Given the description of an element on the screen output the (x, y) to click on. 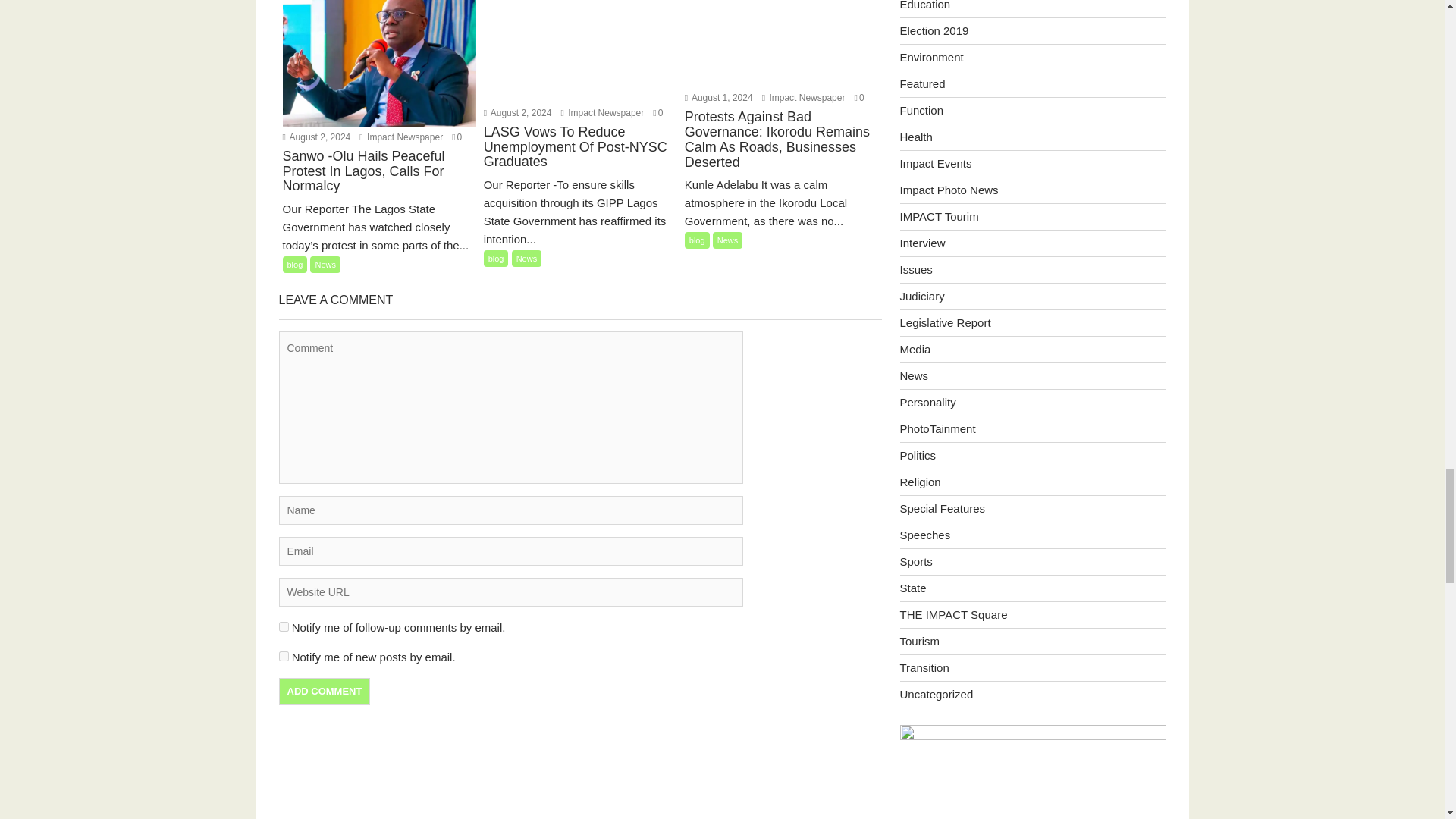
subscribe (283, 626)
subscribe (283, 655)
Impact Newspaper (400, 136)
Impact Newspaper (602, 112)
Add Comment (325, 691)
0 (456, 136)
blog (294, 264)
August 2, 2024 (316, 136)
Impact Newspaper (400, 136)
Impact Newspaper (803, 97)
News (325, 264)
